Given the description of an element on the screen output the (x, y) to click on. 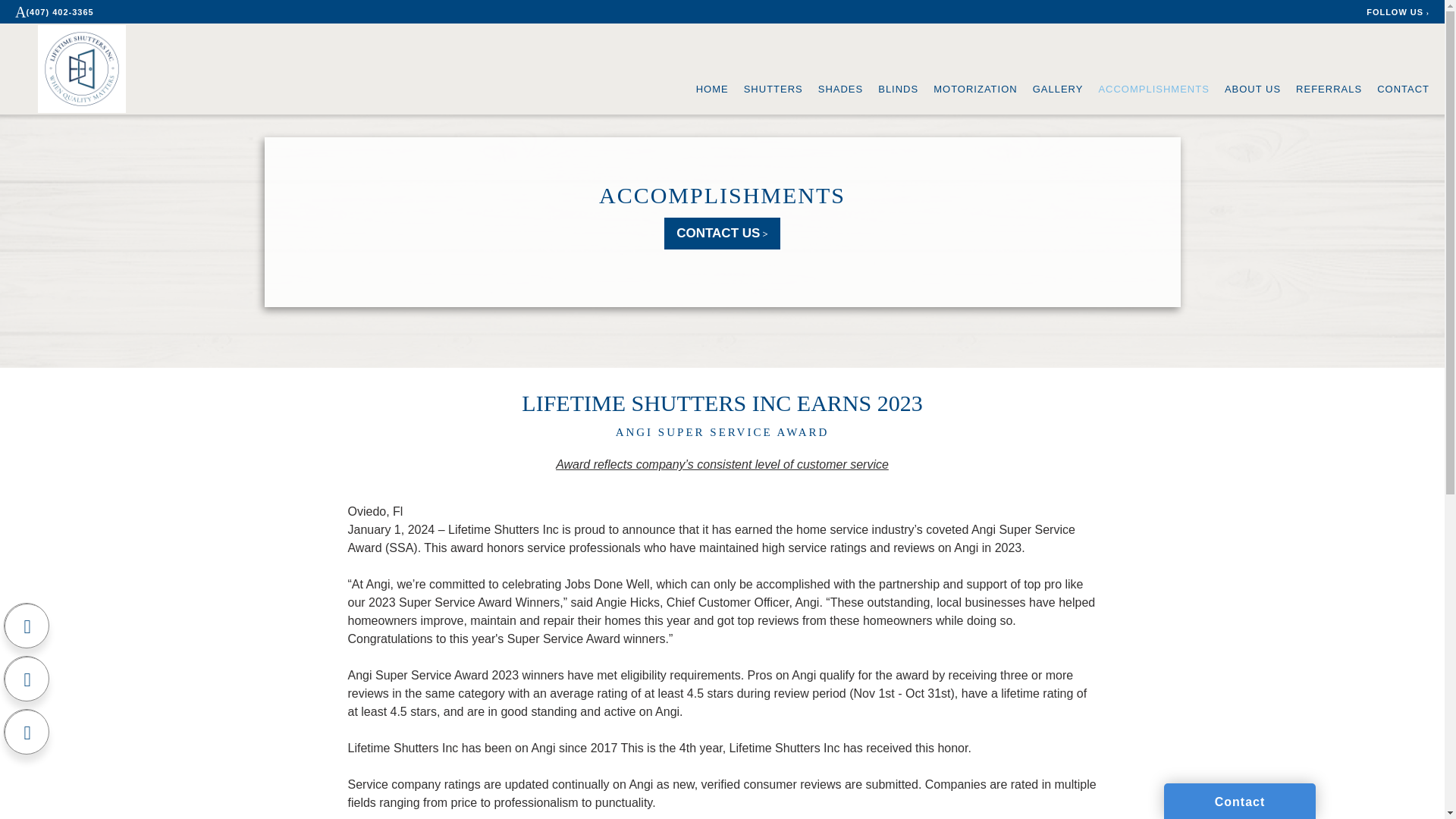
ACCOMPLISHMENTS (1152, 89)
SHADES (840, 89)
CONTACT US (721, 233)
ACCOMPLISHMENTS (721, 195)
GALLERY (1057, 89)
REFERRALS (1328, 89)
SHUTTERS (773, 89)
BLINDS (897, 89)
ABOUT US (1252, 89)
HOME (712, 89)
MOTORIZATION (974, 89)
CONTACT (1403, 89)
